Given the description of an element on the screen output the (x, y) to click on. 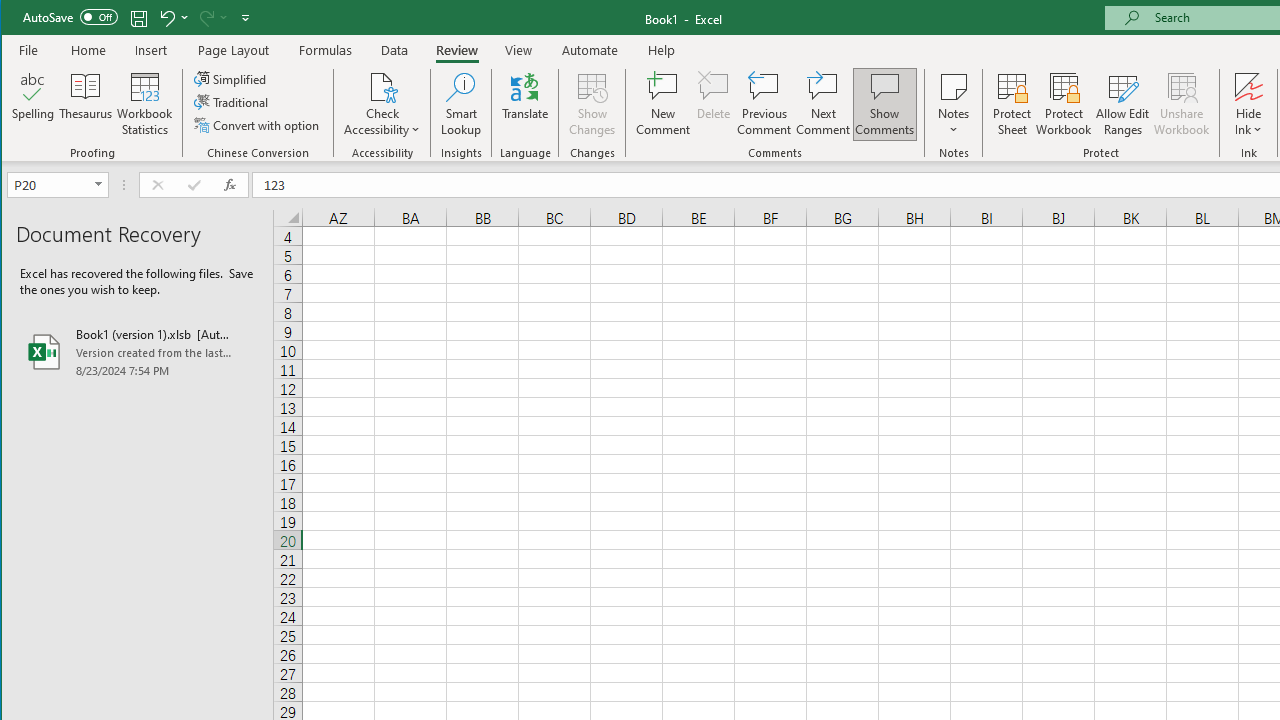
Traditional (232, 101)
Workbook Statistics (145, 104)
